Given the description of an element on the screen output the (x, y) to click on. 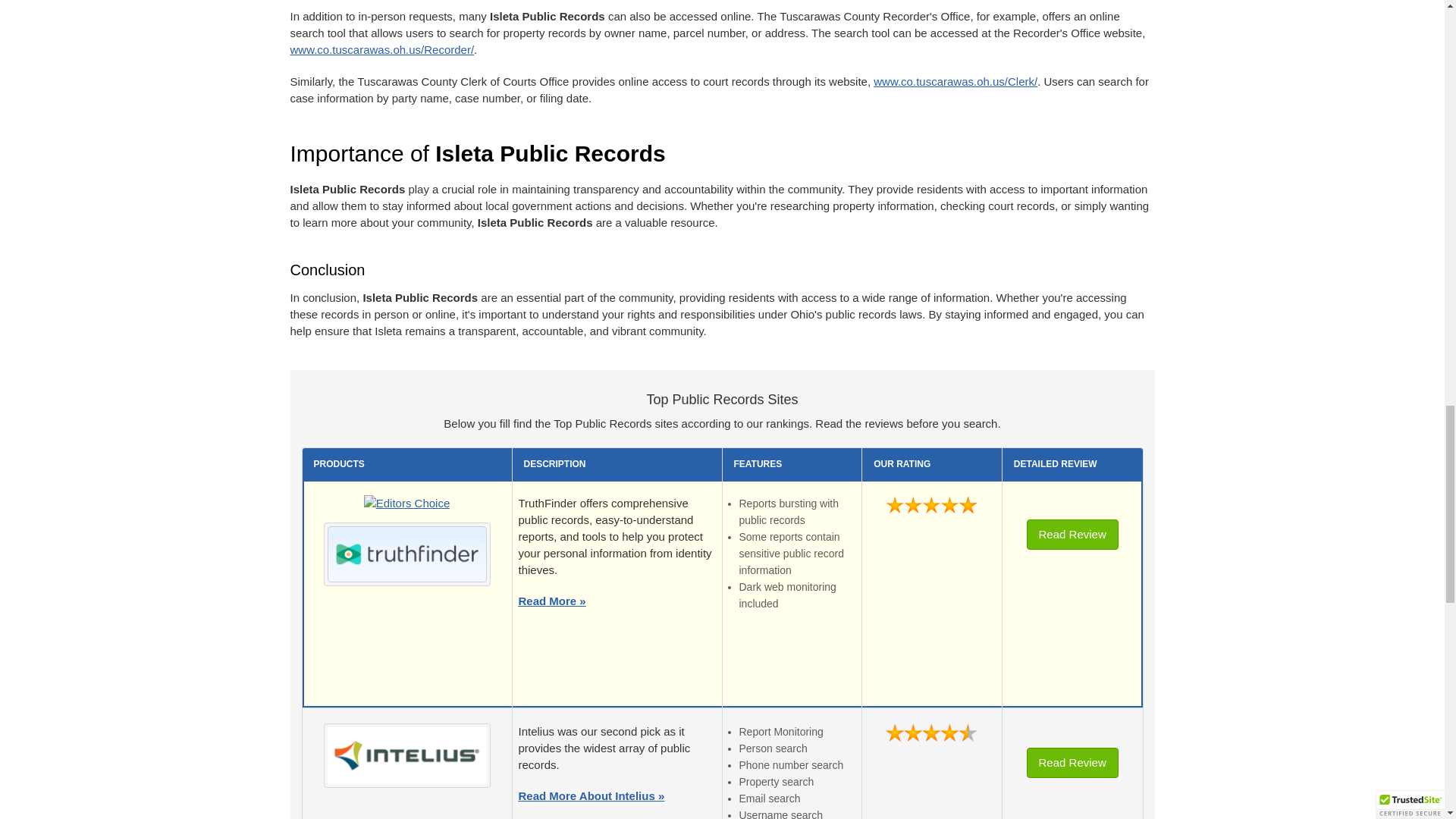
TruthFinder (406, 554)
Intelius (406, 754)
Editors Choice (406, 506)
